Given the description of an element on the screen output the (x, y) to click on. 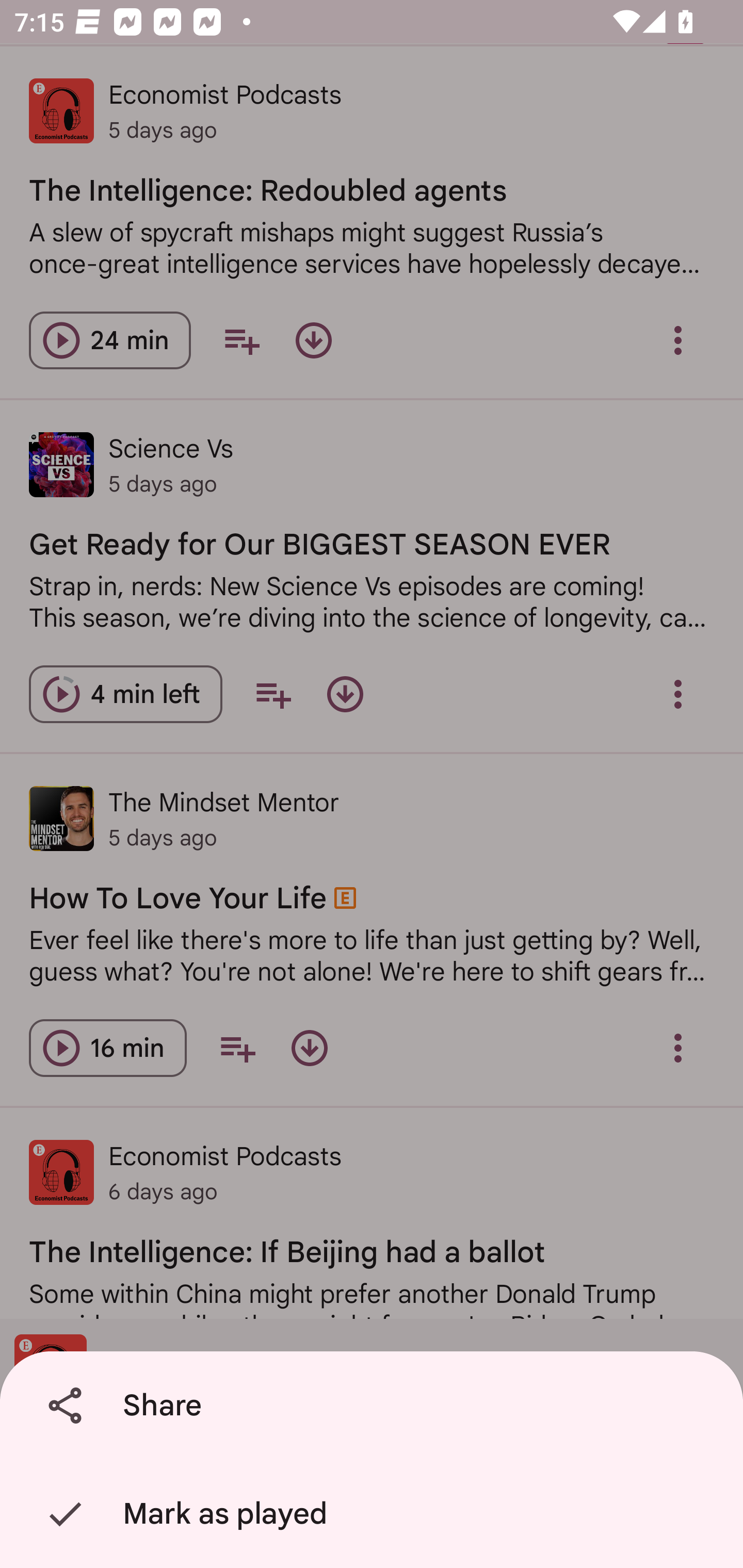
Share (375, 1405)
Mark as played (375, 1513)
